Given the description of an element on the screen output the (x, y) to click on. 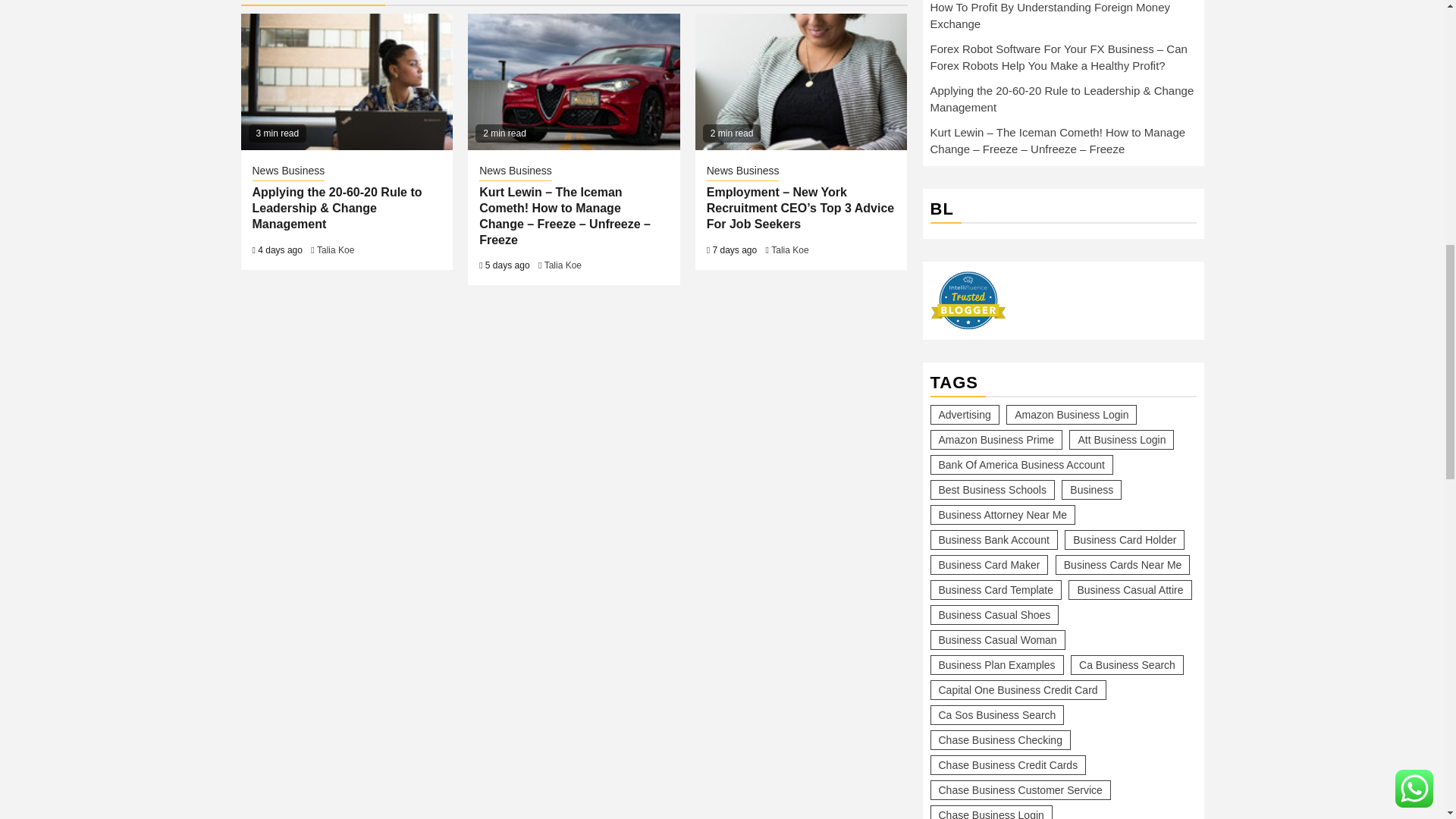
Talia Koe (335, 249)
Talia Koe (562, 265)
News Business (515, 171)
News Business (287, 171)
